Given the description of an element on the screen output the (x, y) to click on. 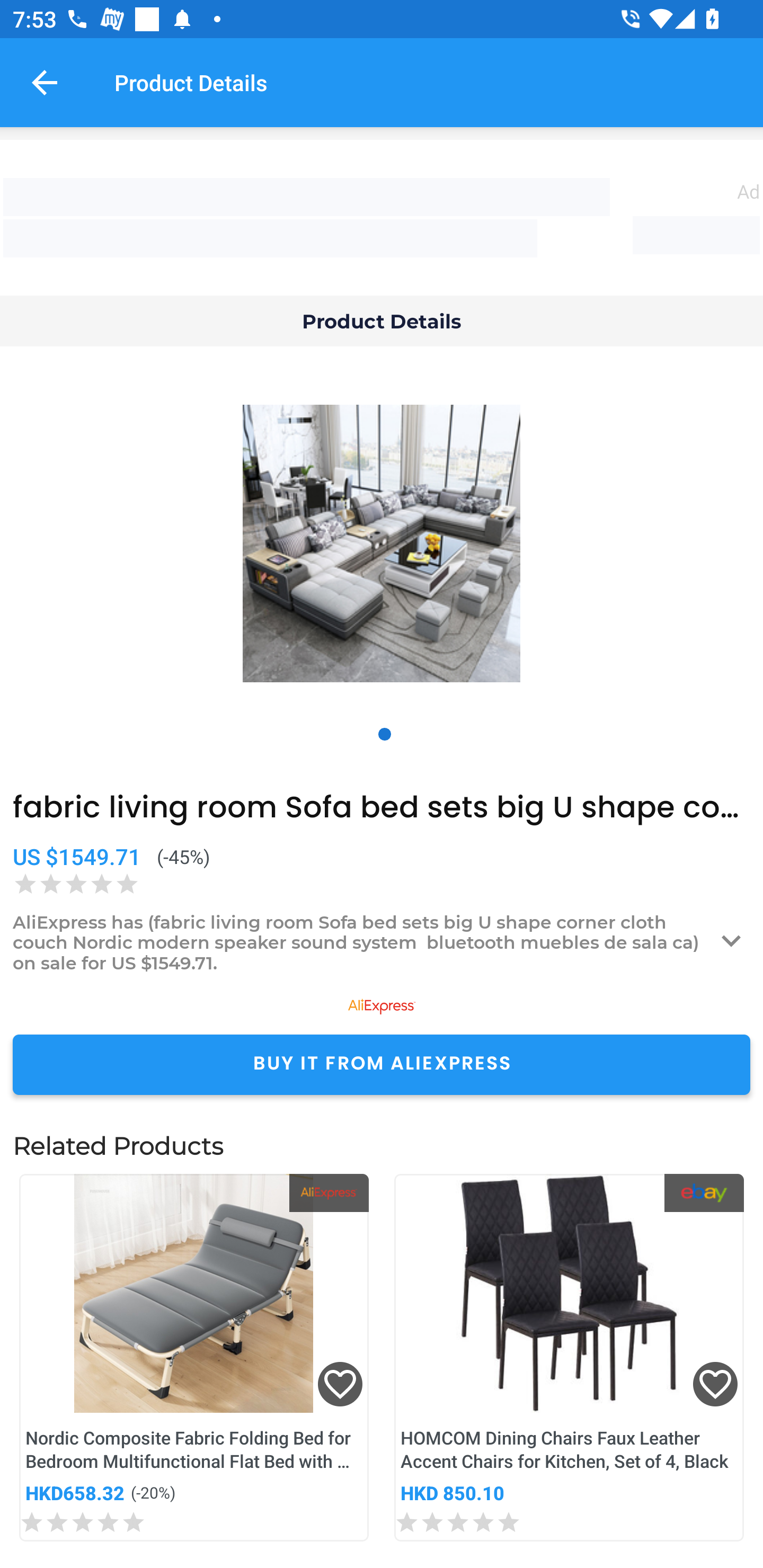
Navigate up (44, 82)
BUY IT FROM ALIEXPRESS (381, 1064)
